Given the description of an element on the screen output the (x, y) to click on. 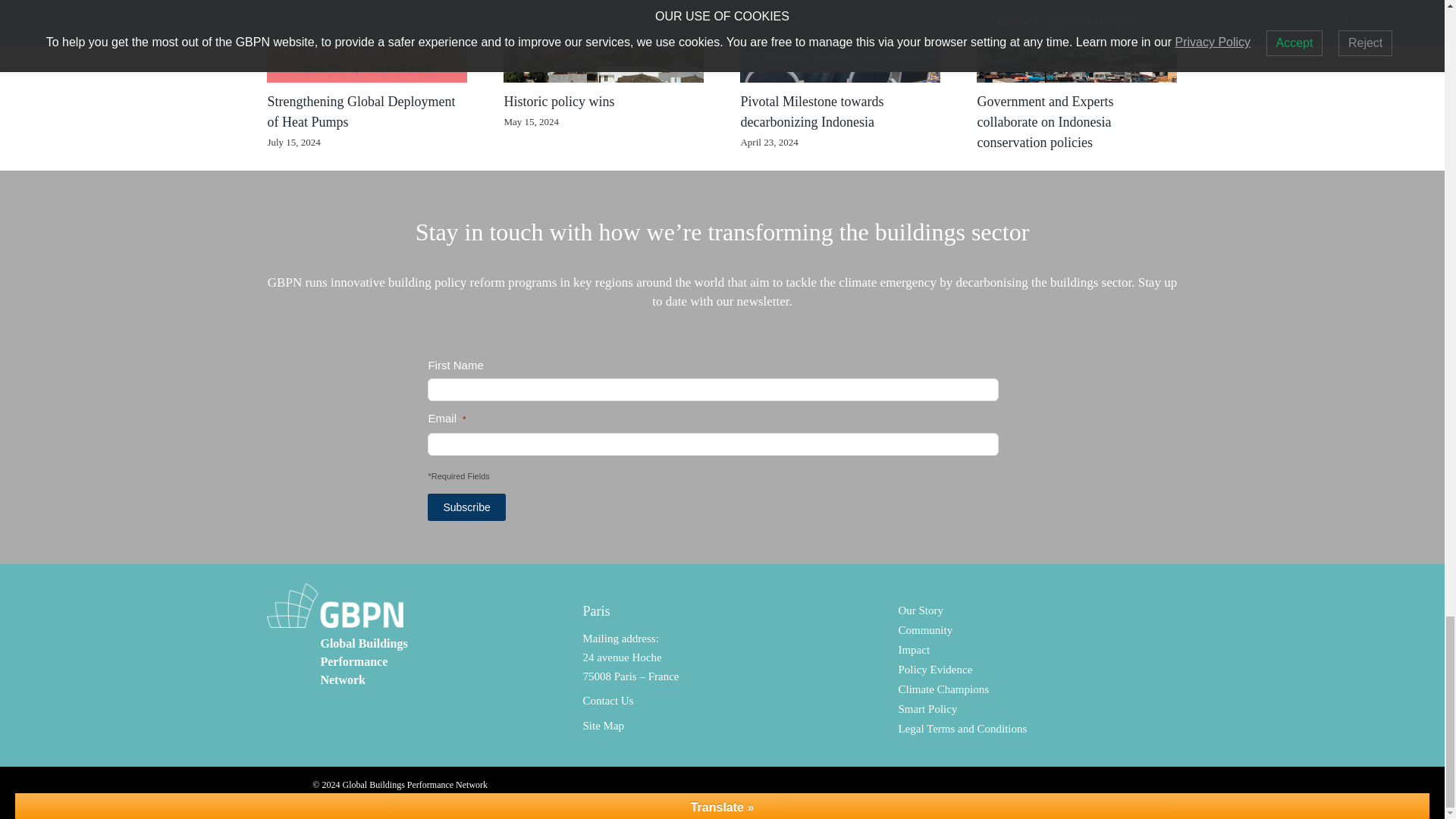
Subscribe (466, 506)
